Given the description of an element on the screen output the (x, y) to click on. 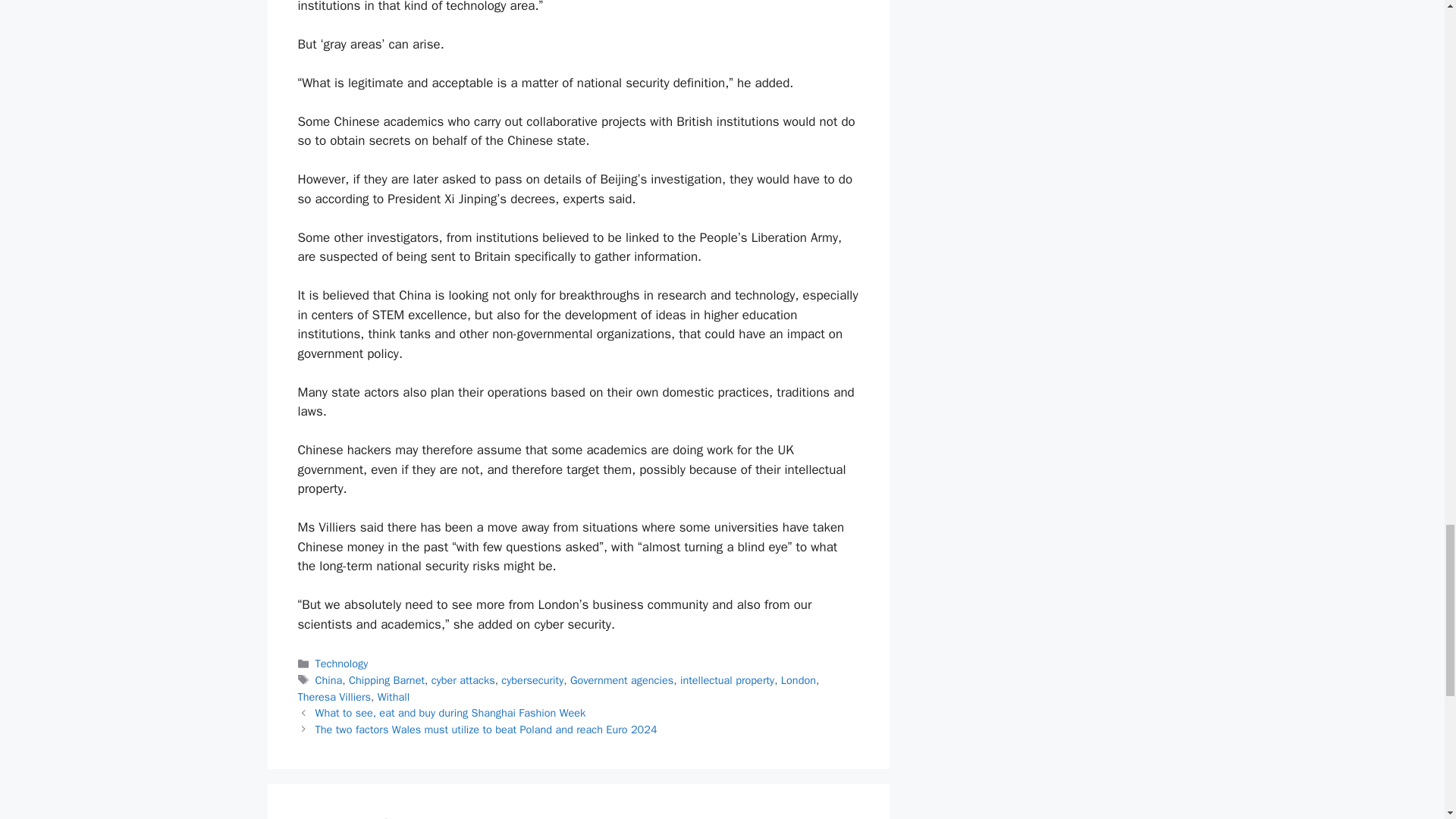
cybersecurity (531, 680)
intellectual property (726, 680)
What to see, eat and buy during Shanghai Fashion Week (450, 712)
Government agencies (621, 680)
Chipping Barnet (387, 680)
China (328, 680)
Theresa Villiers (334, 696)
London (797, 680)
Technology (341, 663)
Withall (393, 696)
cyber attacks (462, 680)
